Given the description of an element on the screen output the (x, y) to click on. 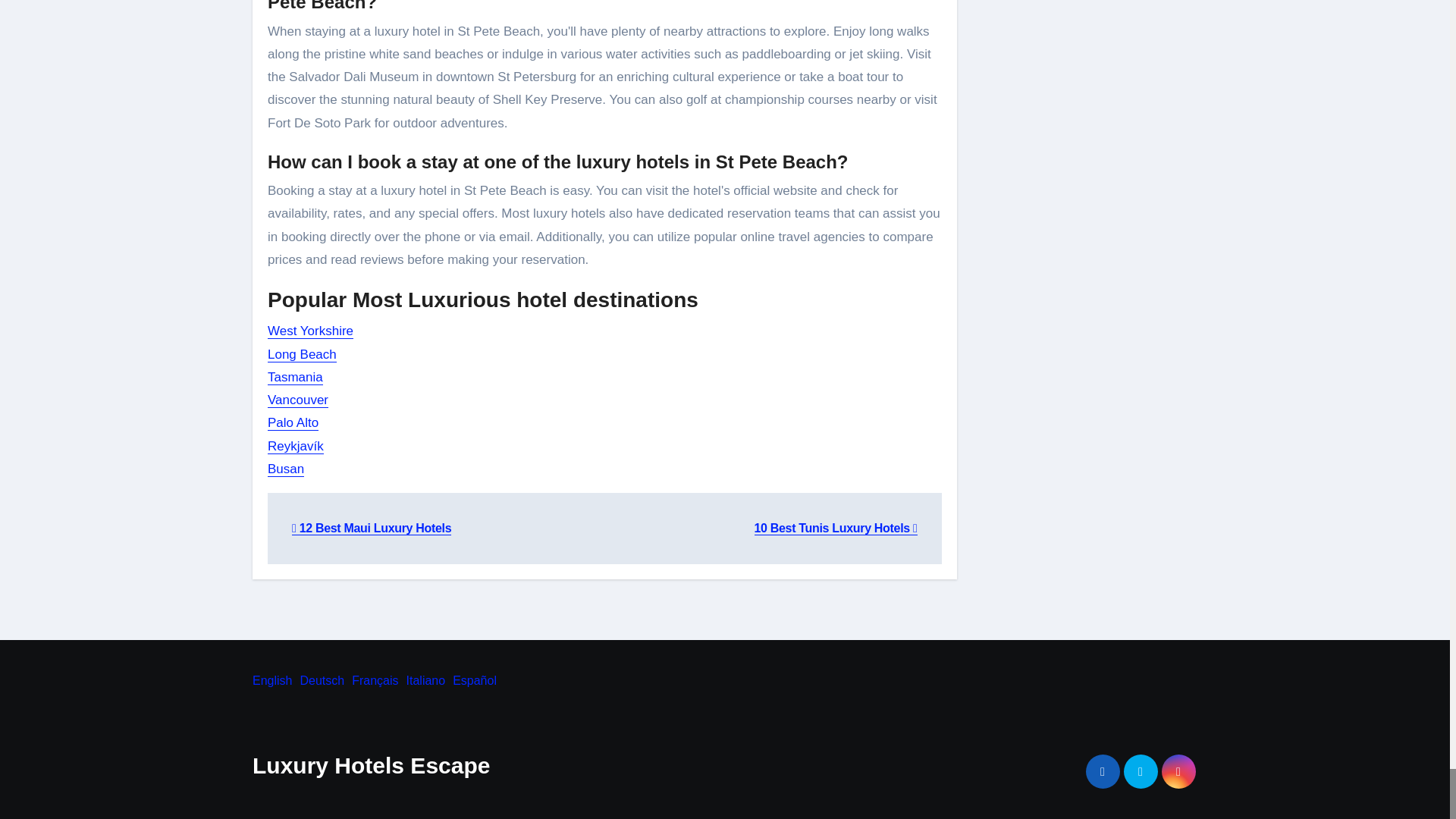
Tasmania (295, 377)
12 Best Maui Luxury Hotels (371, 527)
West Yorkshire (310, 330)
Long Beach (301, 354)
Vancouver (298, 400)
English (271, 680)
Busan (285, 468)
Palo Alto (292, 422)
10 Best Tunis Luxury Hotels (835, 527)
